Given the description of an element on the screen output the (x, y) to click on. 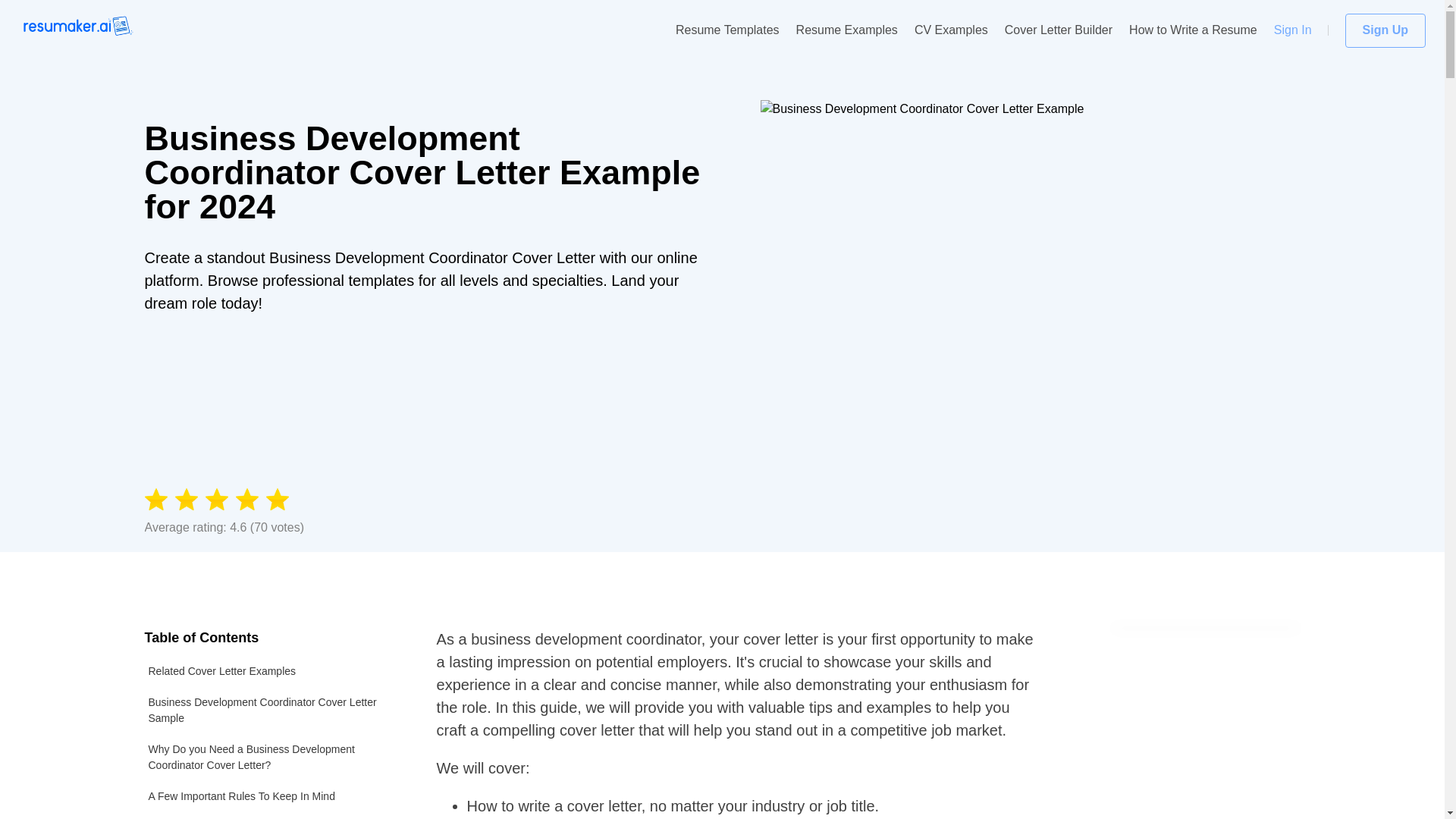
Resume Examples (847, 30)
Business Development Coordinator Cover Letter Sample (270, 710)
CV Examples (951, 30)
How to Write a Resume (1193, 30)
Related Cover Letter Examples (270, 671)
Resume Templates (726, 30)
Cover Letter Builder (1058, 30)
A Few Important Rules To Keep In Mind (270, 796)
